Given the description of an element on the screen output the (x, y) to click on. 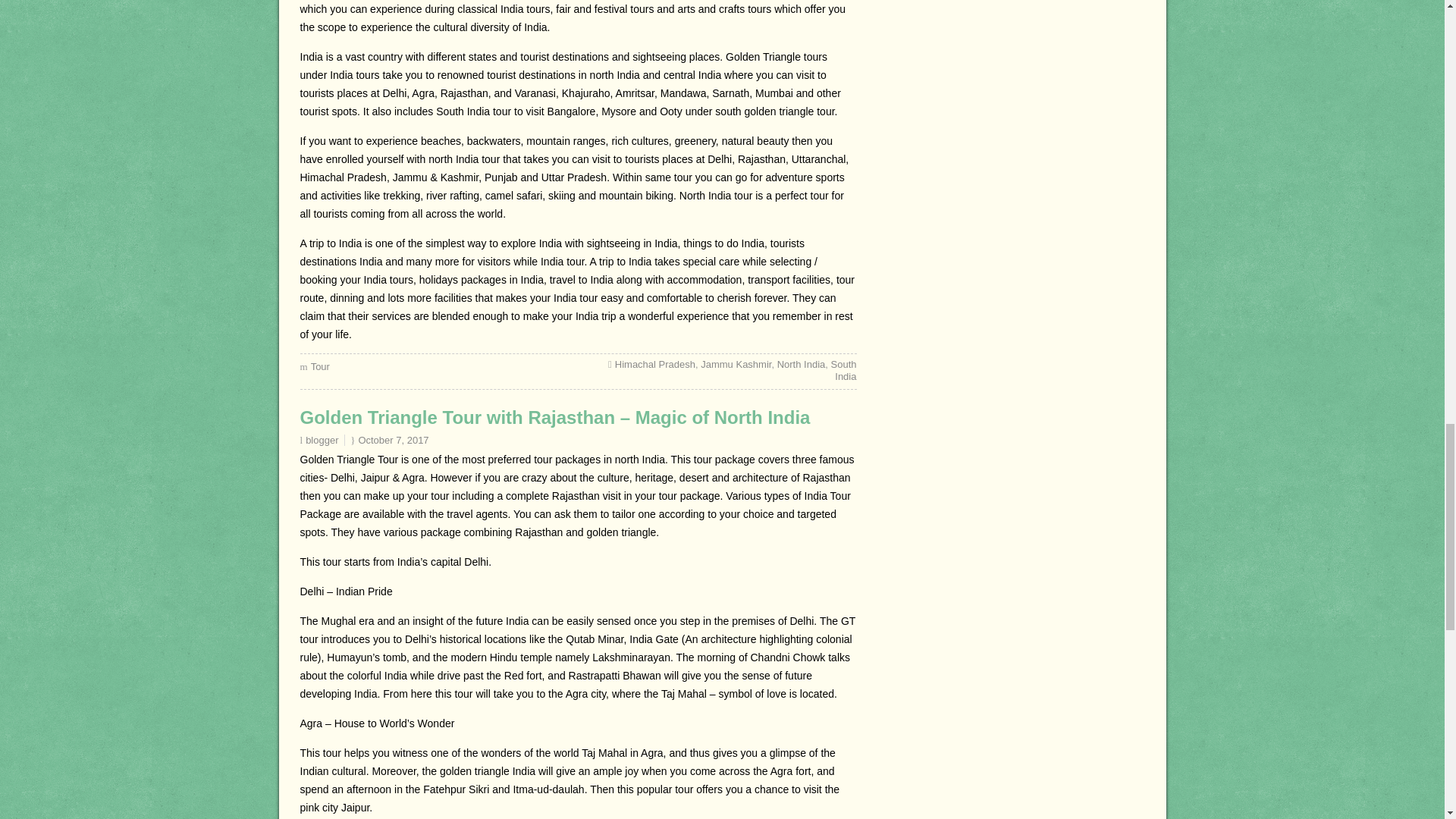
October 7, 2017 (393, 439)
blogger (321, 439)
Himachal Pradesh (654, 364)
Posts by blogger (321, 439)
South India (844, 370)
Jammu Kashmir (735, 364)
Tour (320, 366)
North India (801, 364)
